Given the description of an element on the screen output the (x, y) to click on. 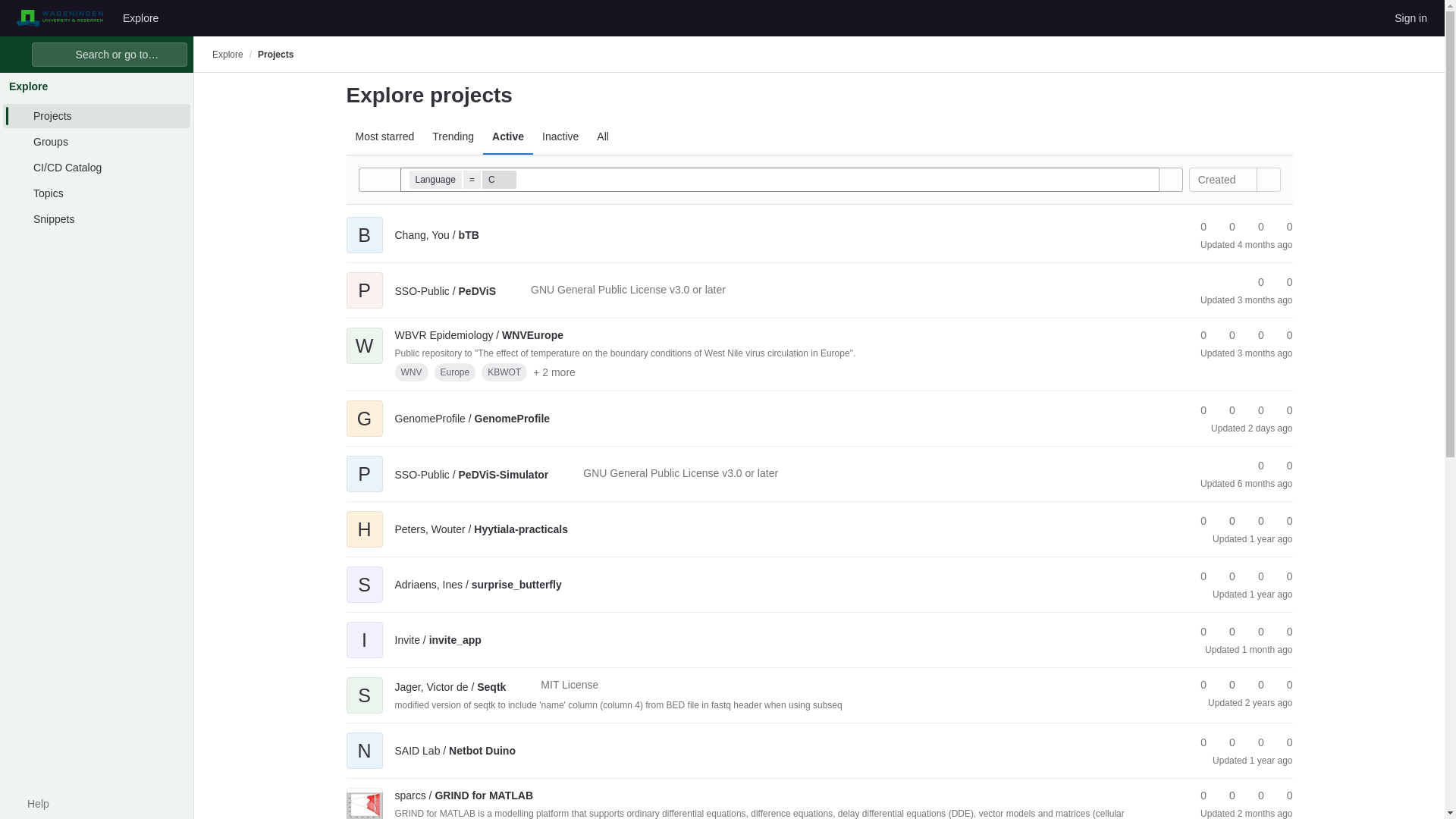
B (363, 224)
All (602, 135)
Issues (1282, 227)
Groups (96, 141)
Toggle history (379, 179)
Snippets (96, 218)
Stars (1196, 227)
Trending (453, 135)
PeDViS (445, 291)
Explore (227, 54)
Forks (1282, 282)
Most starred (384, 135)
Topics (96, 192)
Active (507, 135)
